Given the description of an element on the screen output the (x, y) to click on. 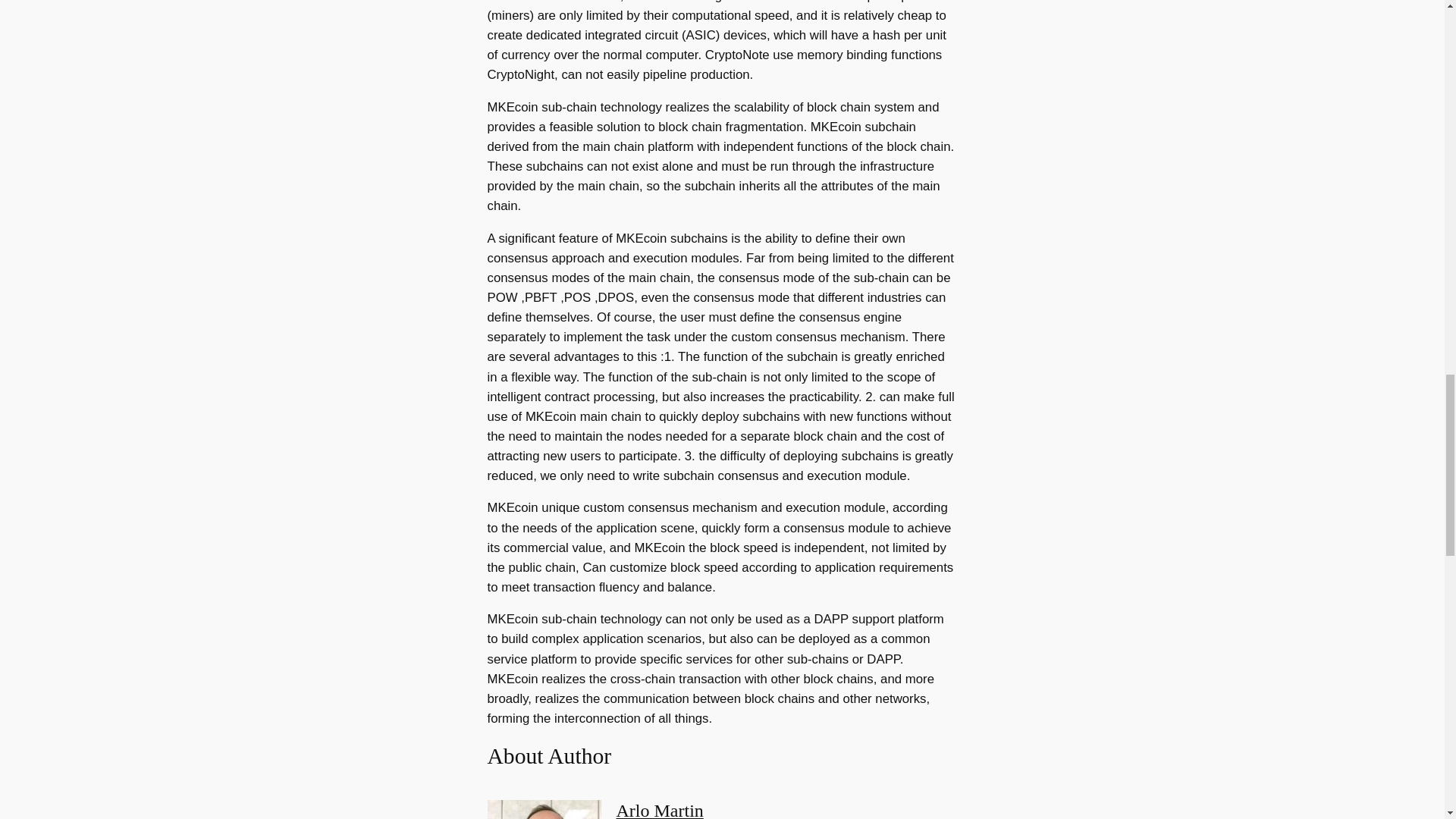
Arlo Martin (659, 809)
